Given the description of an element on the screen output the (x, y) to click on. 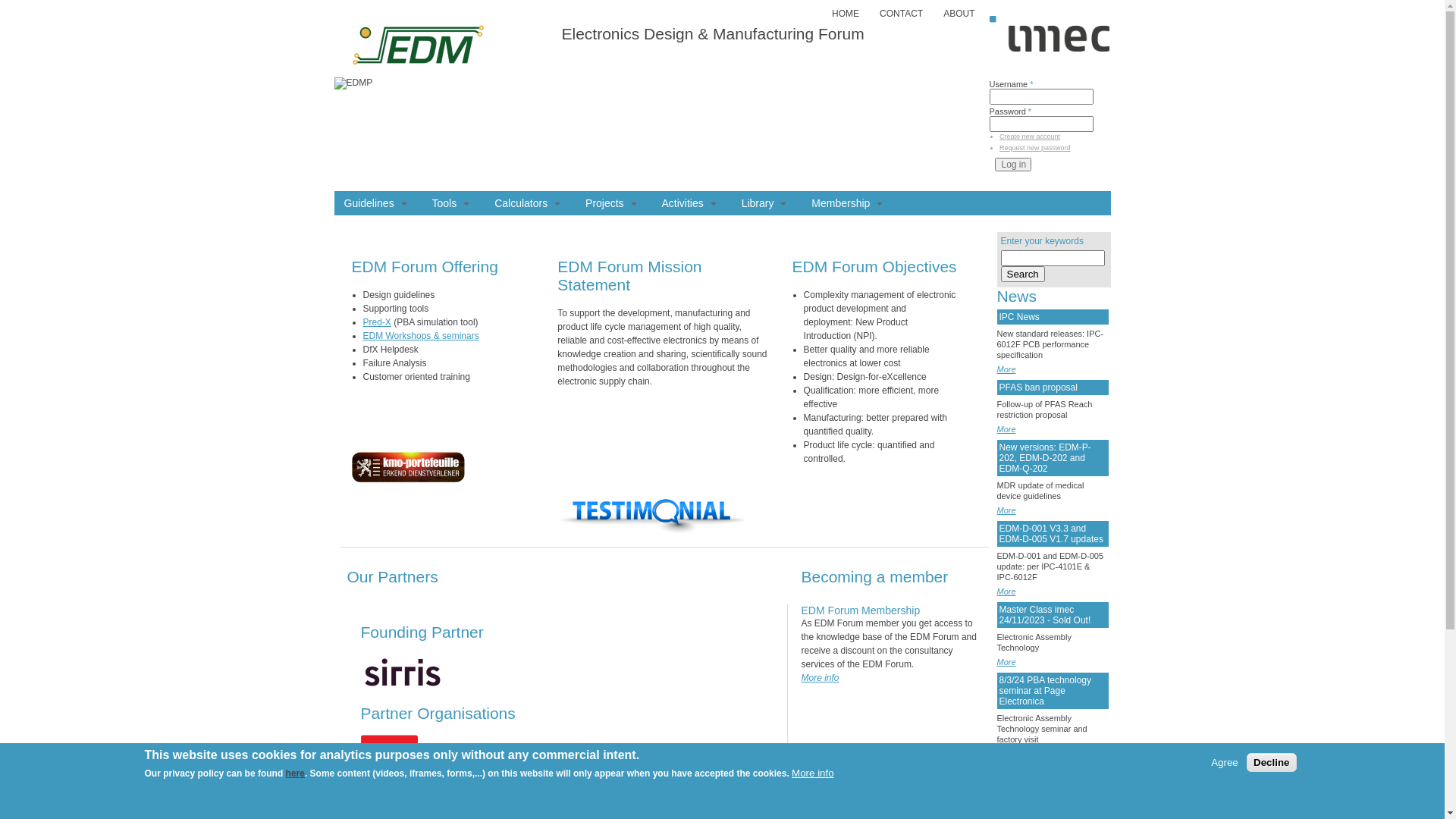
EDM Workshops & seminars Element type: text (420, 335)
Log in Element type: text (1013, 164)
More Element type: text (1005, 368)
Check out all our members Element type: text (718, 810)
here Element type: text (294, 773)
Pred-X Element type: text (376, 321)
Guidelines Element type: text (375, 203)
Projects Element type: text (610, 203)
Skip to main content Element type: text (41, 0)
More Element type: text (1005, 661)
Our Partners Element type: text (392, 576)
Home Element type: hover (416, 82)
HOME Element type: text (845, 13)
More Element type: text (1005, 753)
Request new password Element type: text (1034, 147)
Tools Element type: text (450, 203)
More info Element type: text (812, 772)
More Element type: text (1005, 509)
More Element type: text (1005, 428)
Agree Element type: text (1224, 762)
CONTACT Element type: text (900, 13)
Search Element type: text (1022, 274)
Create new account Element type: text (1029, 136)
Membership Element type: text (846, 203)
Activities Element type: text (689, 203)
Calculators Element type: text (526, 203)
More Element type: text (1005, 591)
Library Element type: text (764, 203)
Decline Element type: text (1270, 762)
ABOUT Element type: text (958, 13)
More info Element type: text (819, 677)
Enter the terms you wish to search for. Element type: hover (1052, 258)
Becoming a member Element type: text (873, 576)
